Given the description of an element on the screen output the (x, y) to click on. 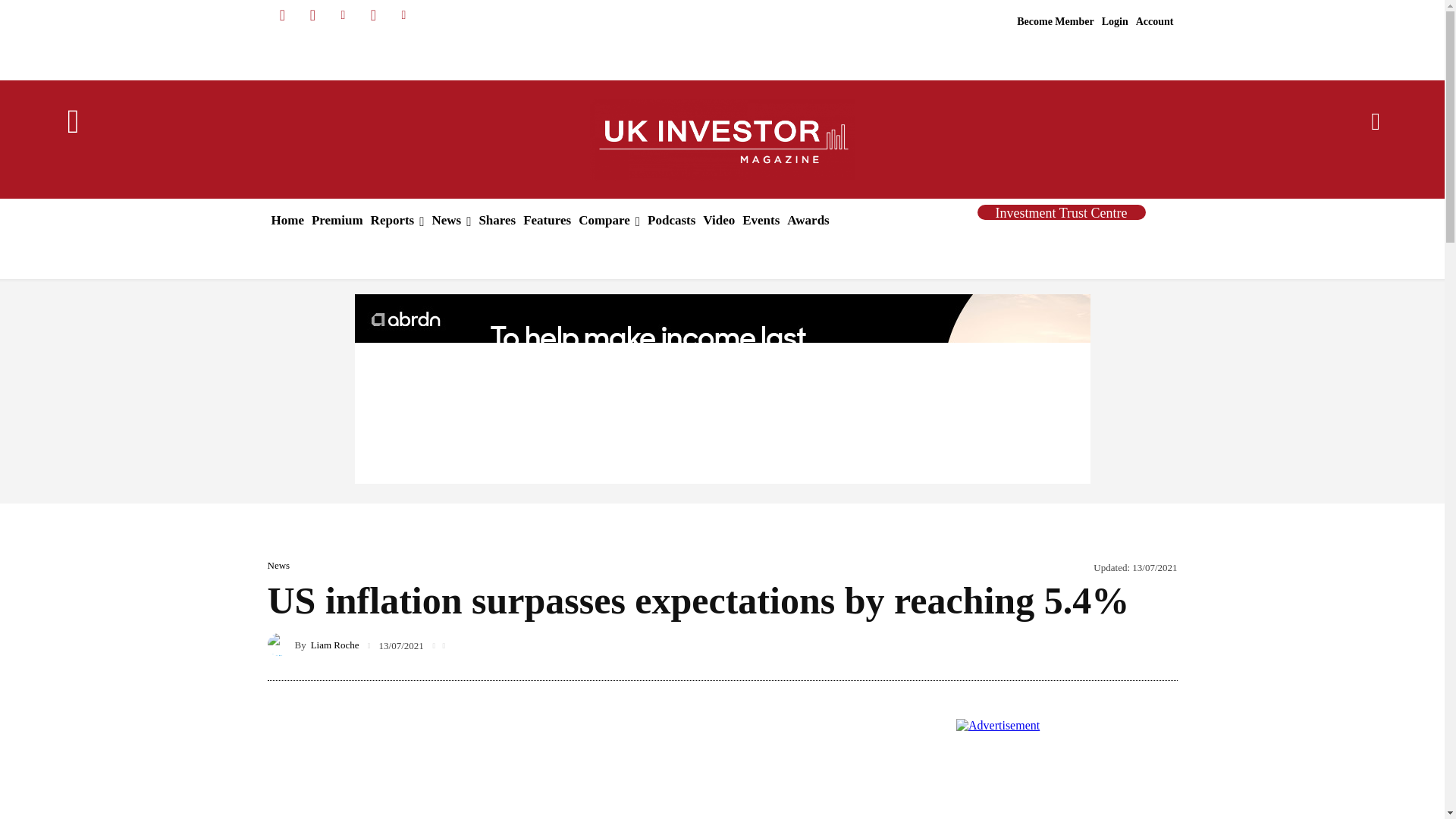
Facebook (281, 15)
Become Member (1055, 22)
Twitter (373, 15)
Linkedin (342, 15)
Account (1154, 22)
Home (286, 220)
Instagram (312, 15)
Reports (397, 220)
Premium (336, 220)
Vimeo (403, 15)
